Given the description of an element on the screen output the (x, y) to click on. 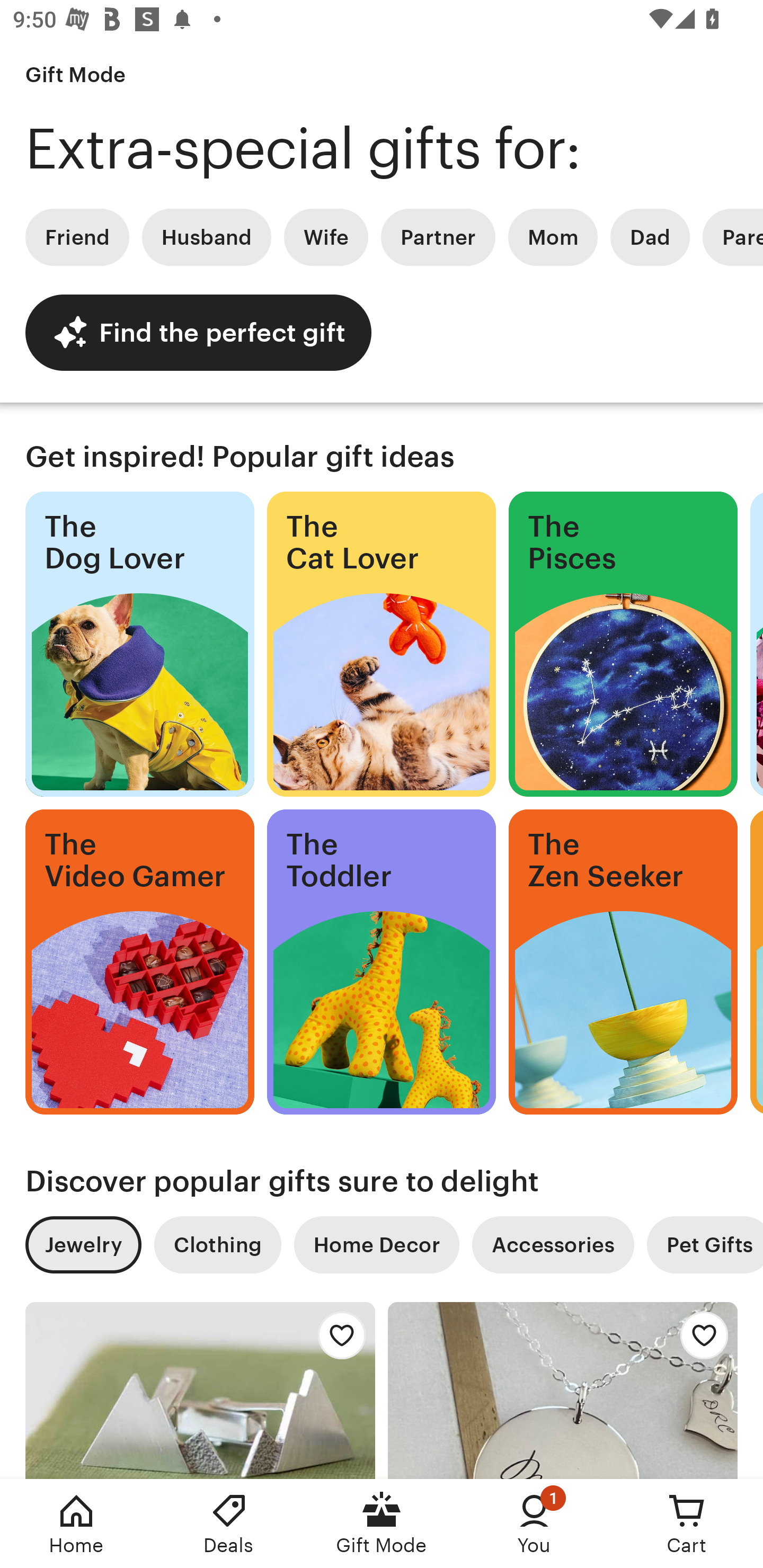
Friend (76, 237)
Husband (206, 237)
Wife (325, 237)
Partner (437, 237)
Mom (552, 237)
Dad (649, 237)
Find the perfect gift (198, 332)
The Dog Lover (139, 644)
The Cat Lover (381, 644)
The Pisces (622, 644)
The Video Gamer (139, 961)
The Toddler (381, 961)
The Zen Seeker (622, 961)
Jewelry (83, 1244)
Clothing (217, 1244)
Home Decor (376, 1244)
Accessories (553, 1244)
Pet Gifts (705, 1244)
Home (76, 1523)
Deals (228, 1523)
You, 1 new notification You (533, 1523)
Cart (686, 1523)
